Given the description of an element on the screen output the (x, y) to click on. 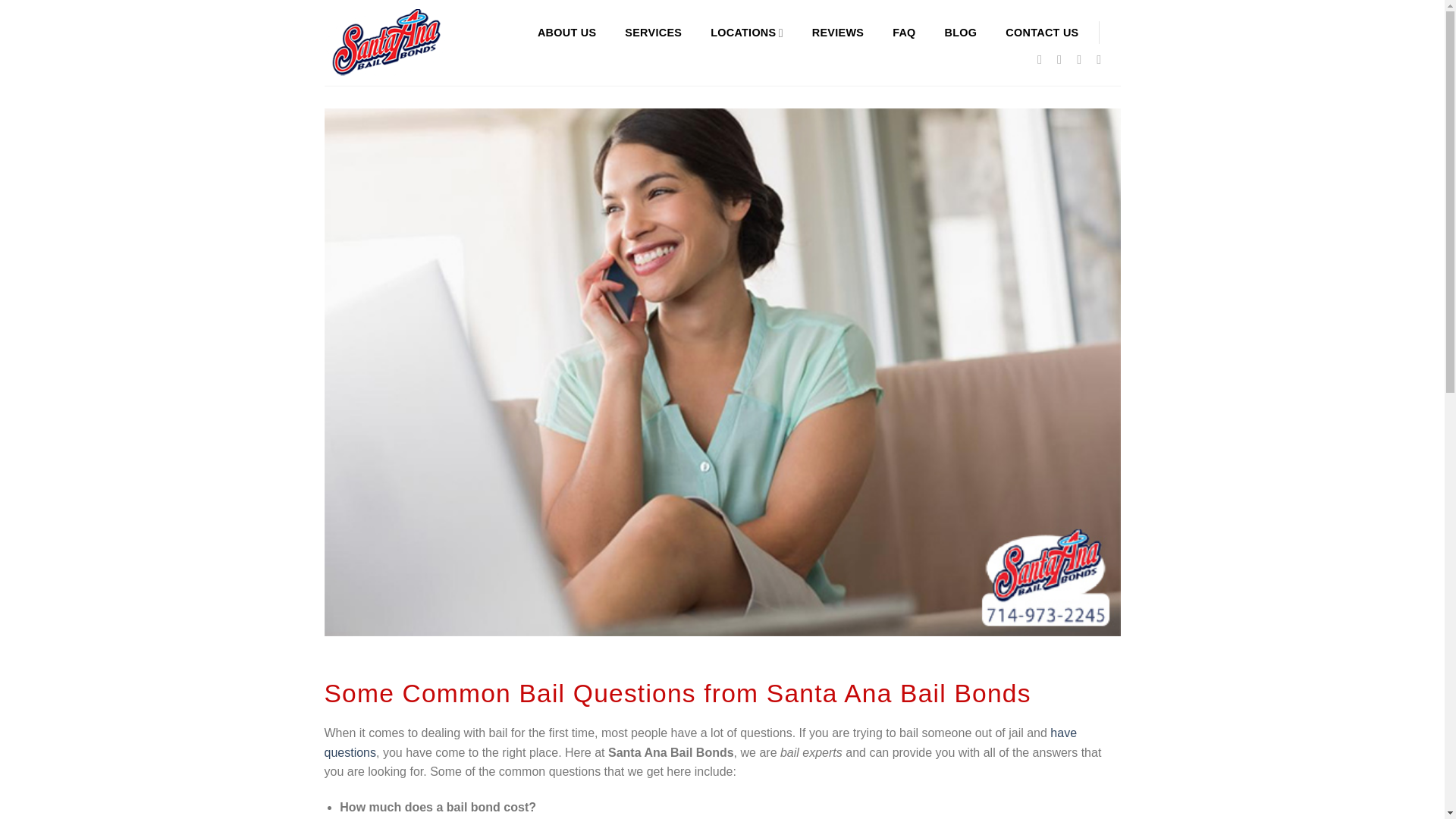
have questions (700, 742)
BLOG (960, 32)
SERVICES (652, 32)
FAQ (903, 32)
REVIEWS (837, 32)
LOCATIONS (746, 32)
CONTACT US (1042, 32)
ABOUT US (566, 32)
